Given the description of an element on the screen output the (x, y) to click on. 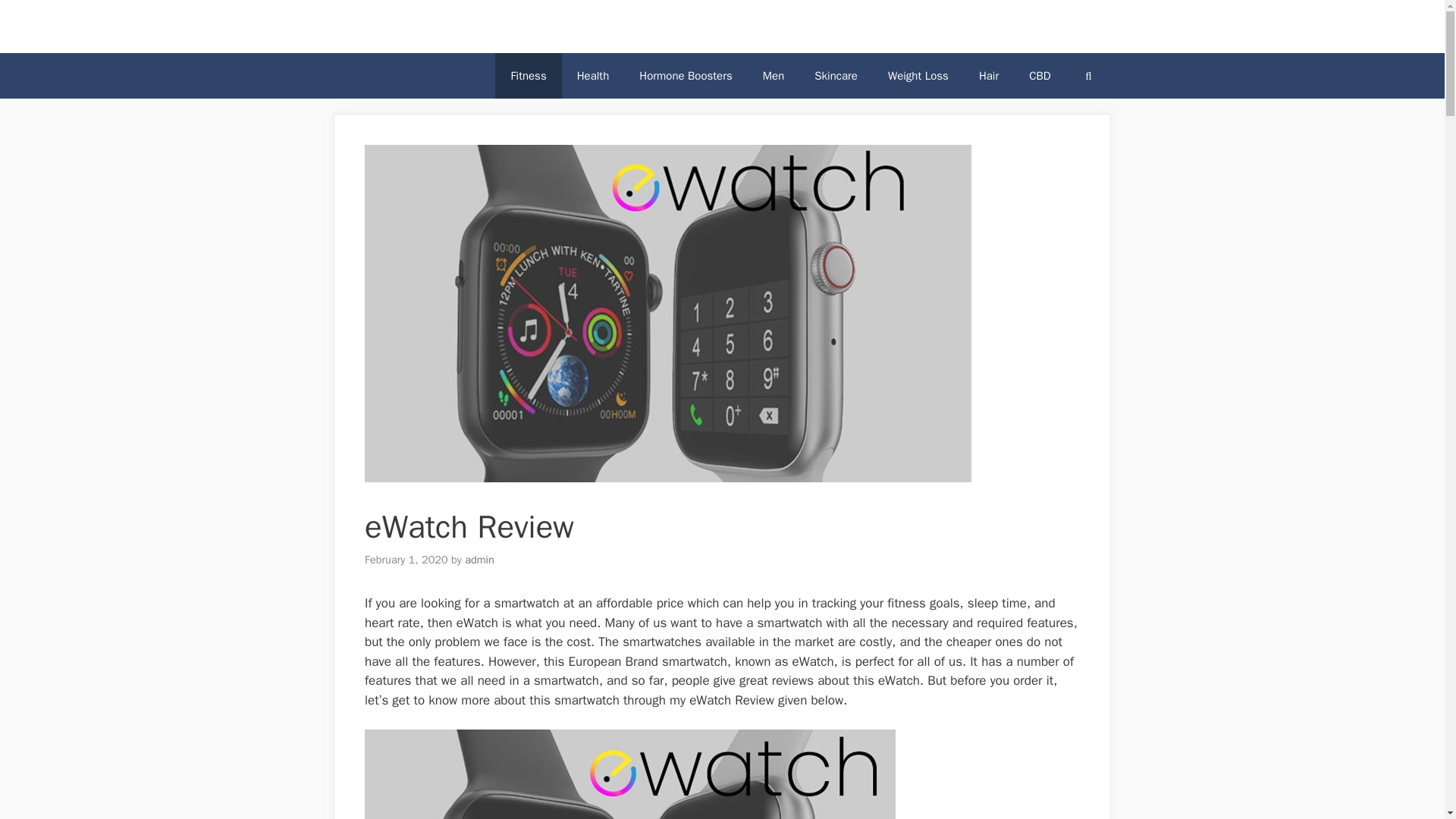
Coverage For All (399, 25)
Health (593, 75)
Fitness (527, 75)
View all posts by admin (479, 559)
Men (773, 75)
Weight Loss (917, 75)
admin (479, 559)
CBD (1039, 75)
Skincare (835, 75)
Hair (988, 75)
